Given the description of an element on the screen output the (x, y) to click on. 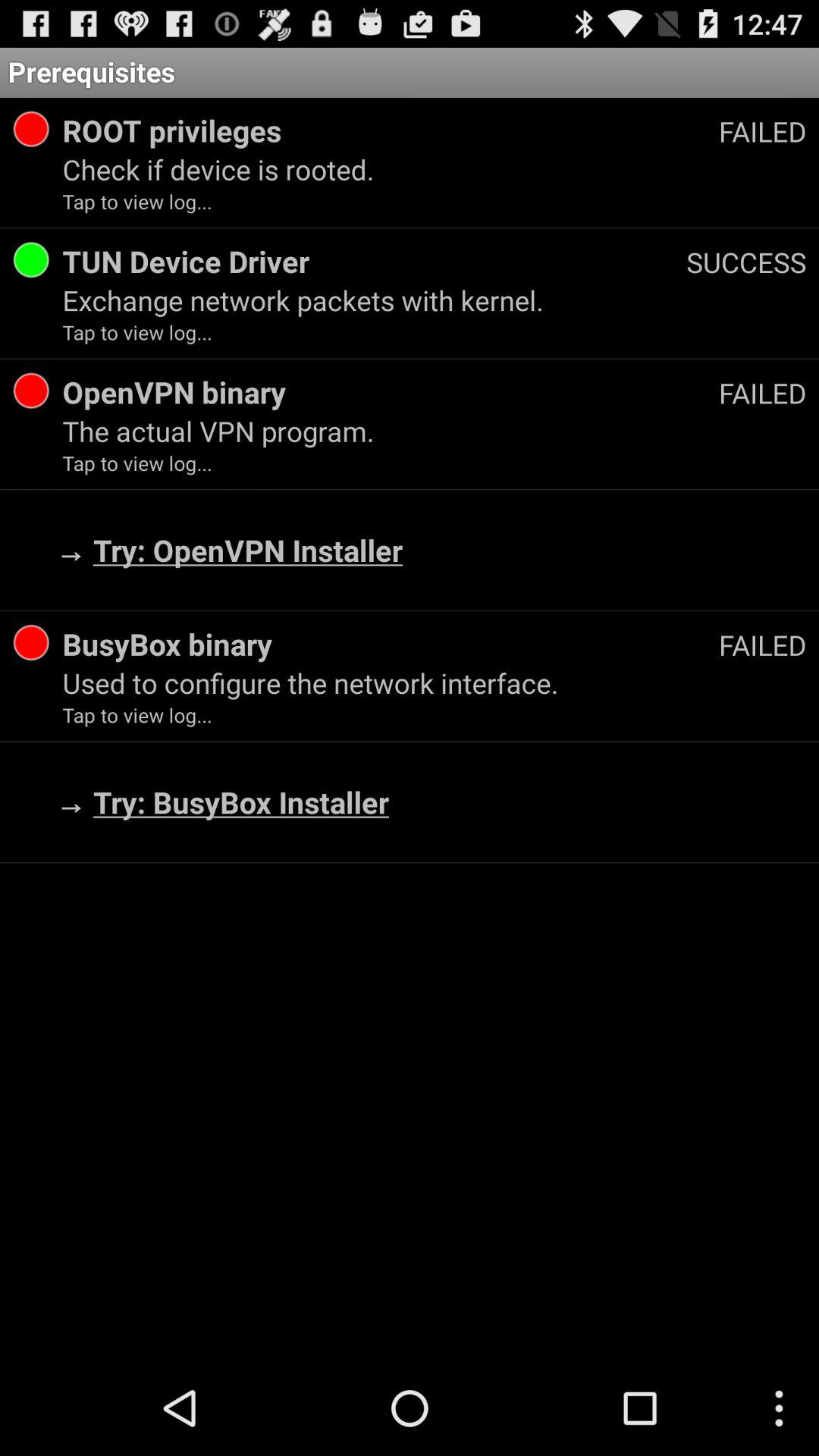
turn off icon below tap to view (390, 391)
